Given the description of an element on the screen output the (x, y) to click on. 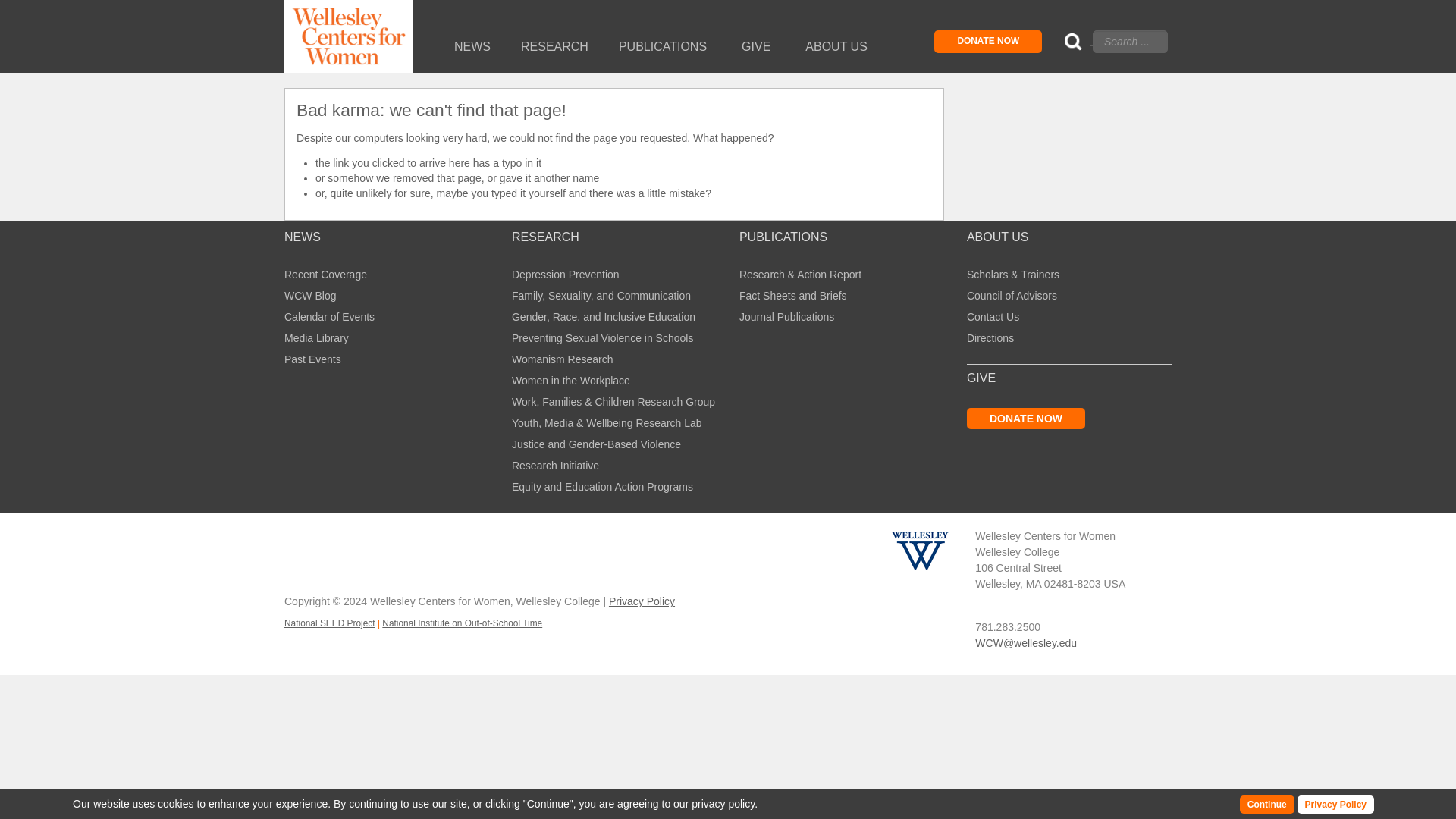
GIVE (754, 47)
RESEARCH (553, 47)
NEWS (471, 47)
PUBLICATIONS (661, 47)
ABOUT US (835, 47)
DONATE NOW (988, 41)
